Given the description of an element on the screen output the (x, y) to click on. 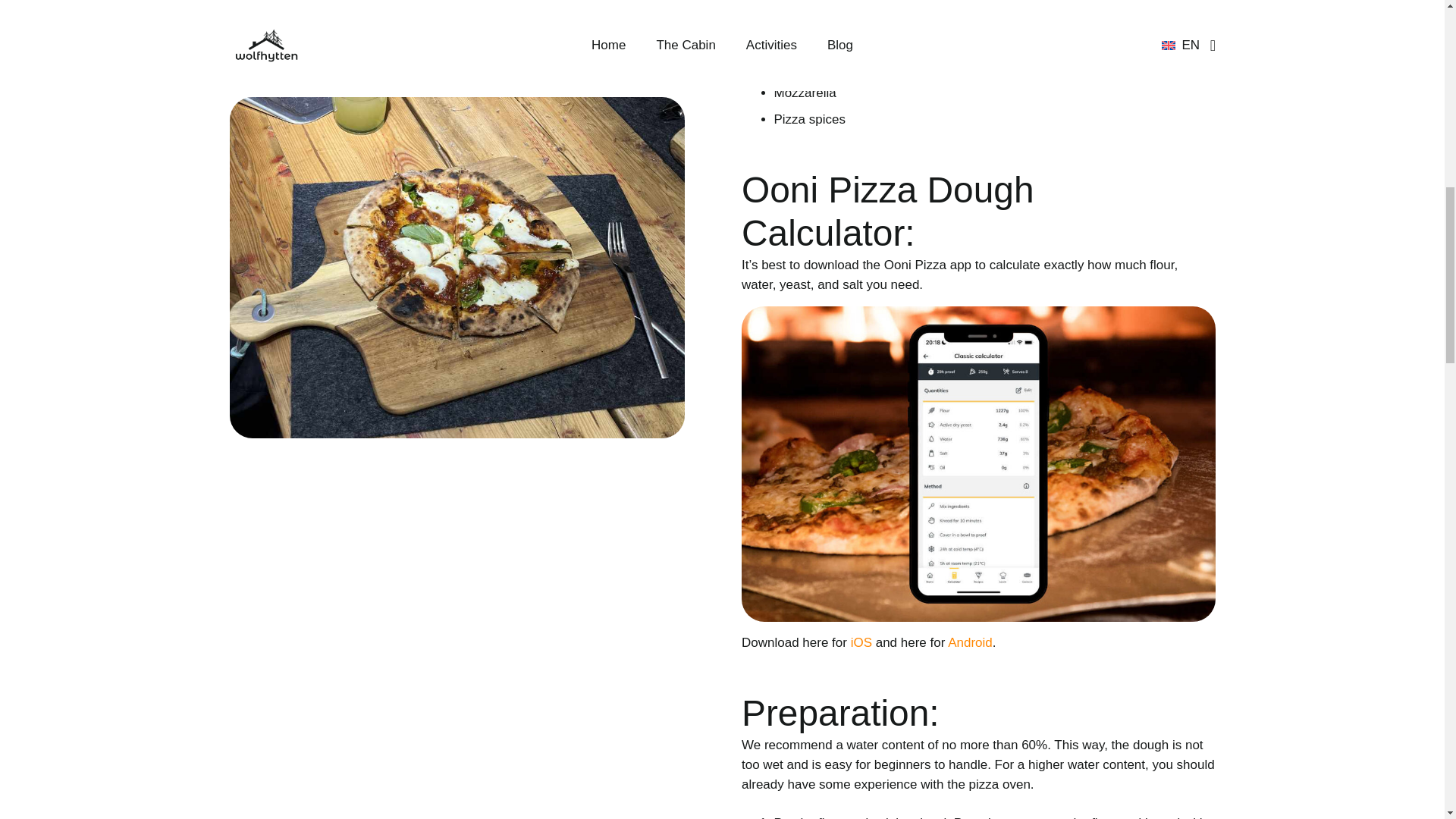
Back to top (1413, 26)
iOS (861, 642)
Android (969, 642)
